Given the description of an element on the screen output the (x, y) to click on. 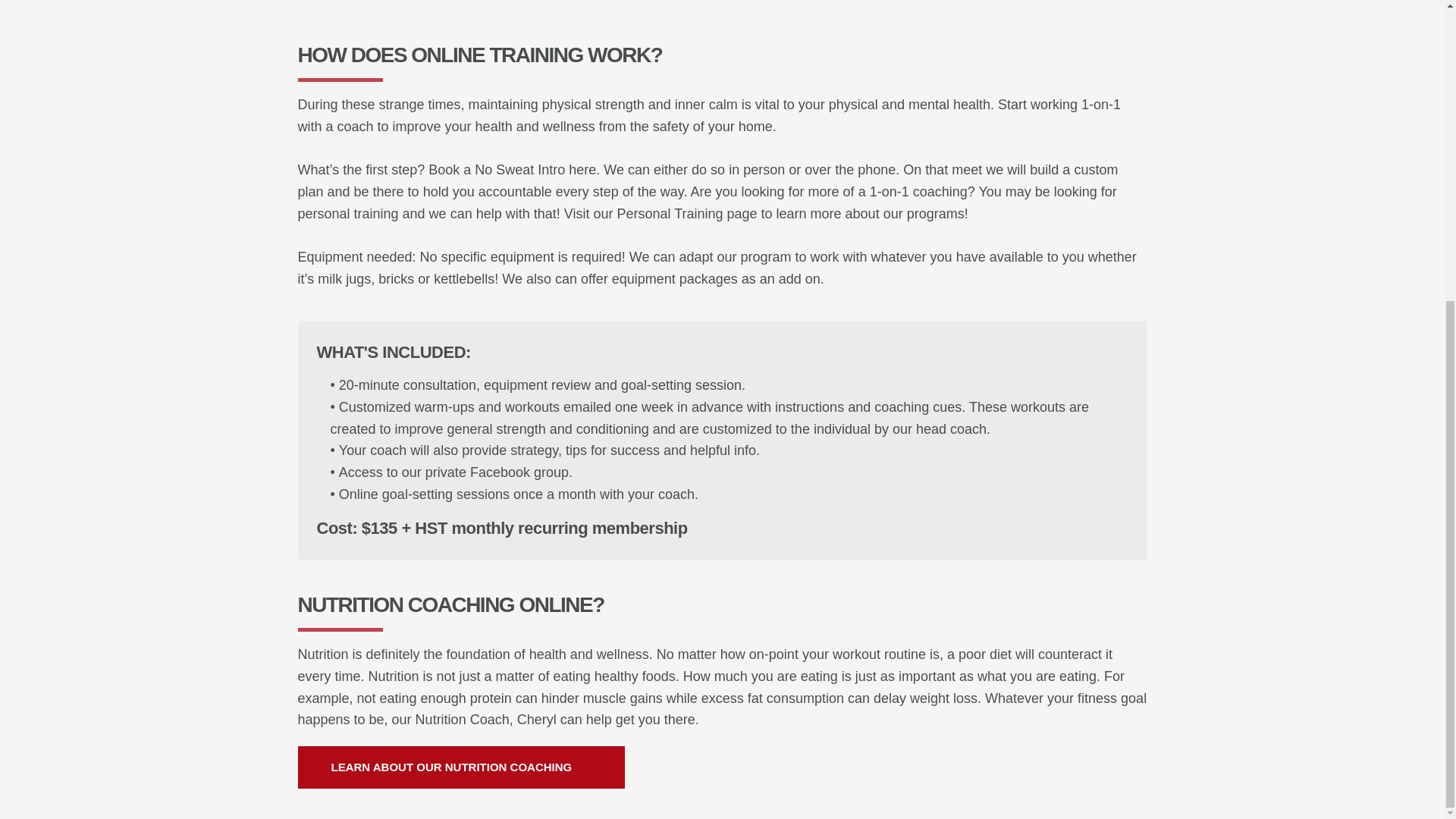
LEARN ABOUT OUR NUTRITION COACHING (460, 767)
